Given the description of an element on the screen output the (x, y) to click on. 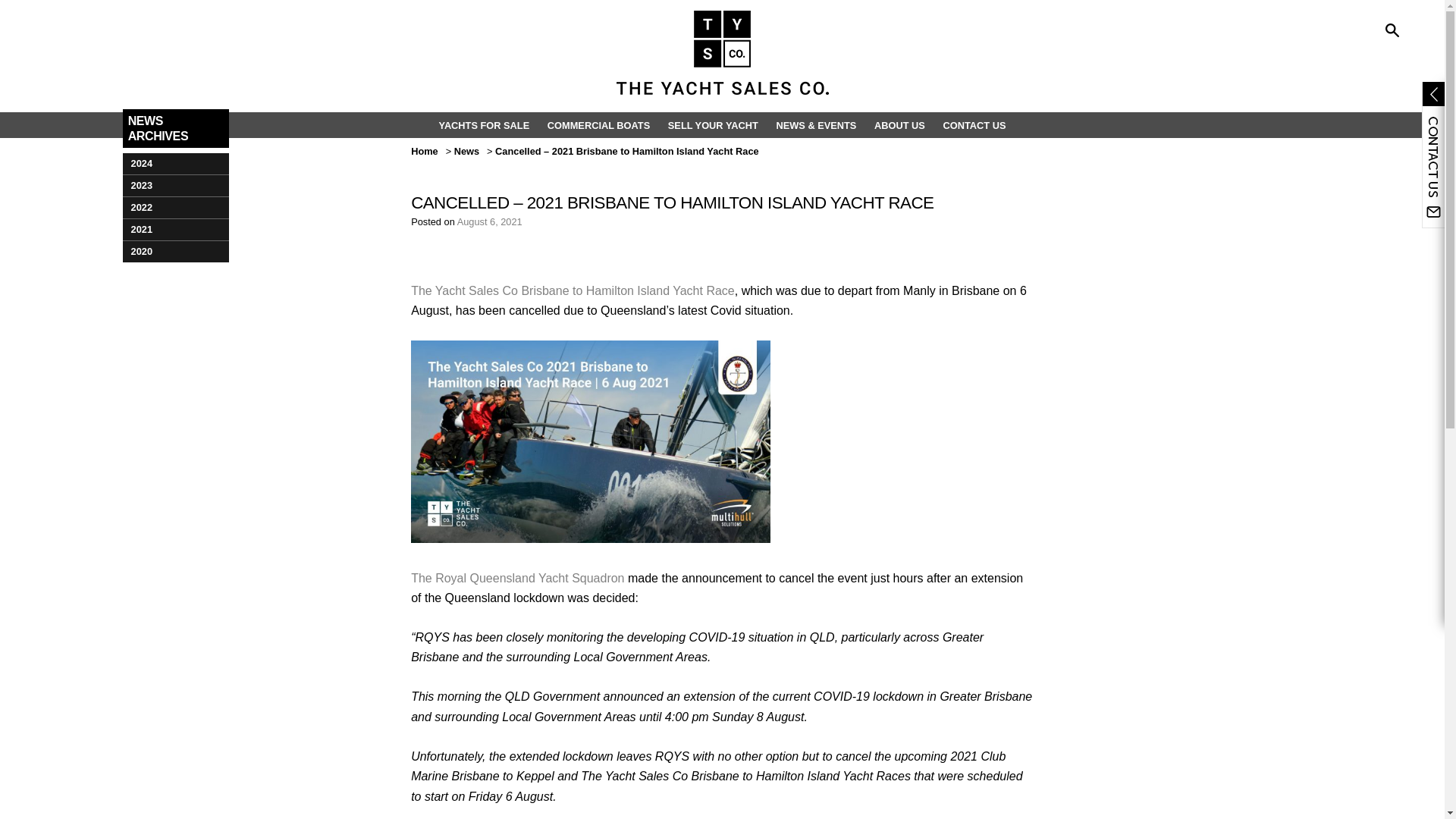
2024 (175, 163)
COMMERCIAL BOATS (599, 125)
2020 (175, 251)
2022 (175, 207)
2023 (175, 185)
ABOUT US (898, 125)
YACHTS FOR SALE (483, 125)
Home (424, 151)
SELL YOUR YACHT (713, 125)
The Yacht Sales Co Brisbane to Hamilton Island Yacht Race (572, 290)
The Royal Queensland Yacht Squadron (517, 577)
CONTACT US (974, 125)
The Yacht Sales Co. (721, 52)
August 6, 2021 (489, 221)
2021 (175, 229)
